Given the description of an element on the screen output the (x, y) to click on. 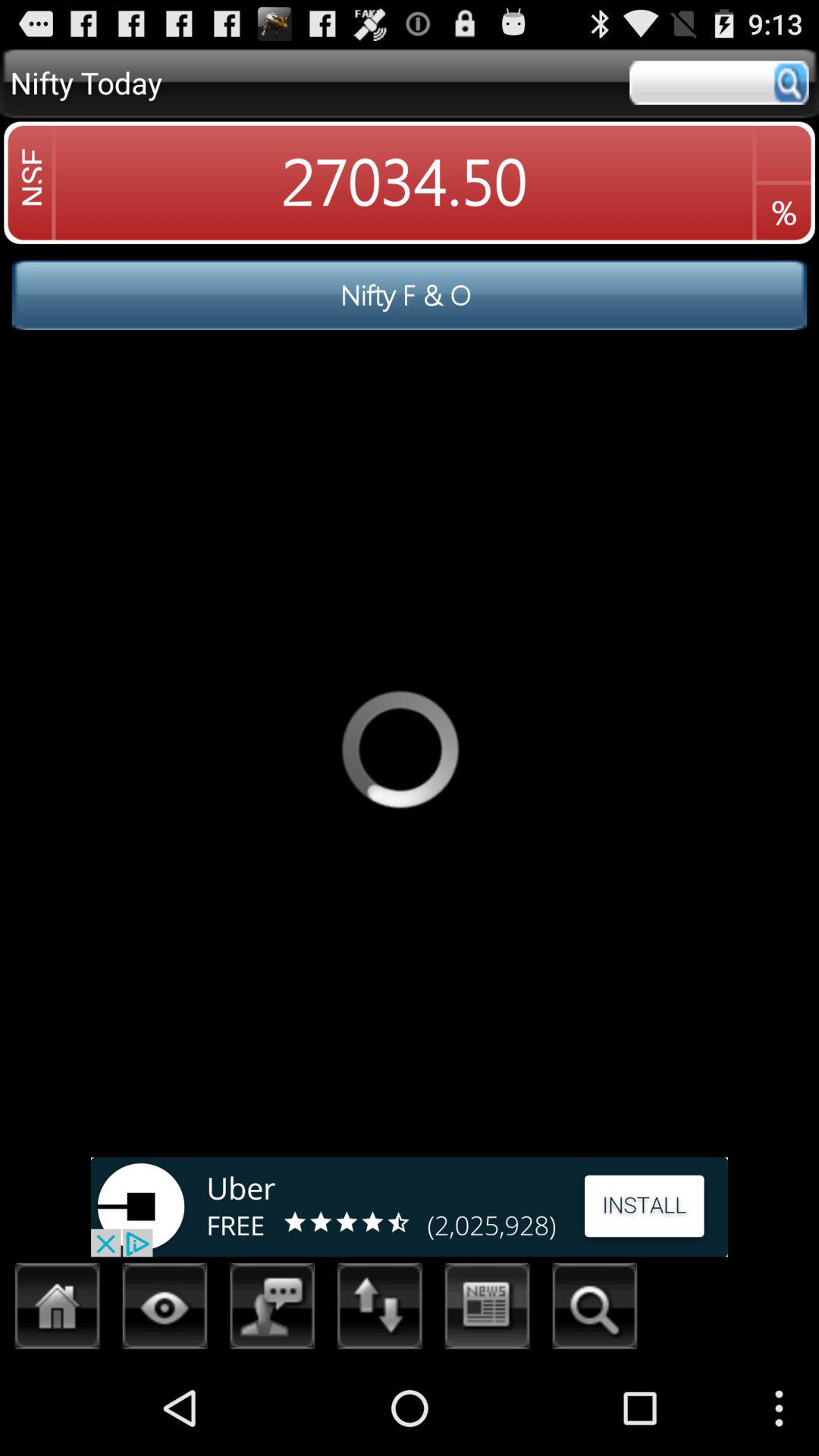
display the news (487, 1310)
